Given the description of an element on the screen output the (x, y) to click on. 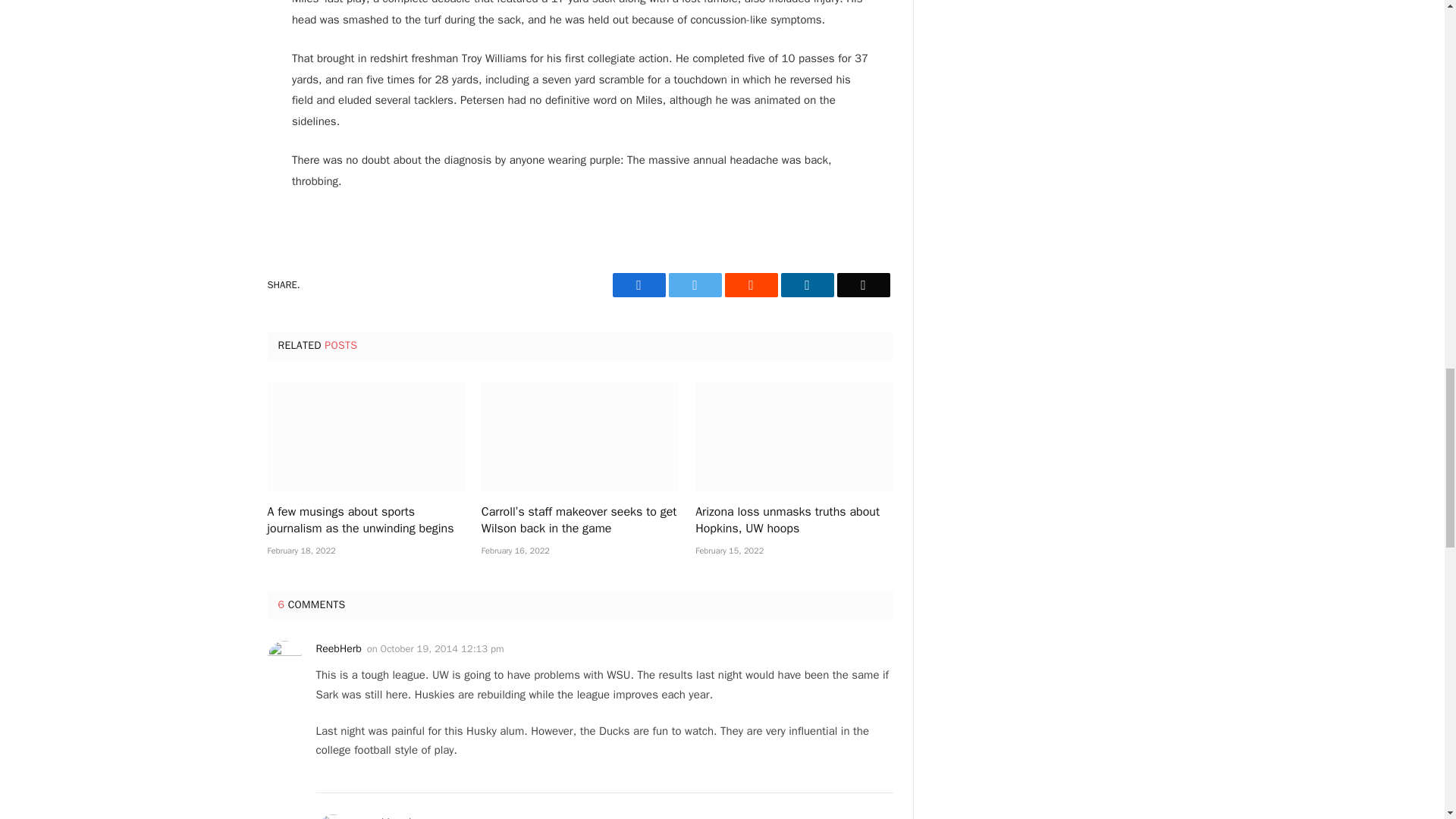
Twitter (695, 284)
Facebook (638, 284)
LinkedIn (807, 284)
Email (863, 284)
Reddit (751, 284)
